Given the description of an element on the screen output the (x, y) to click on. 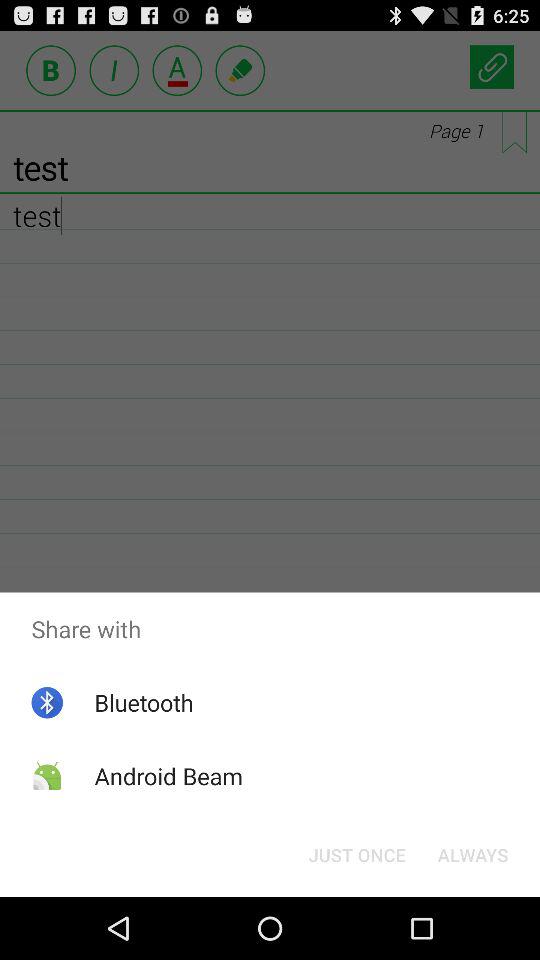
select the icon below bluetooth item (168, 775)
